Given the description of an element on the screen output the (x, y) to click on. 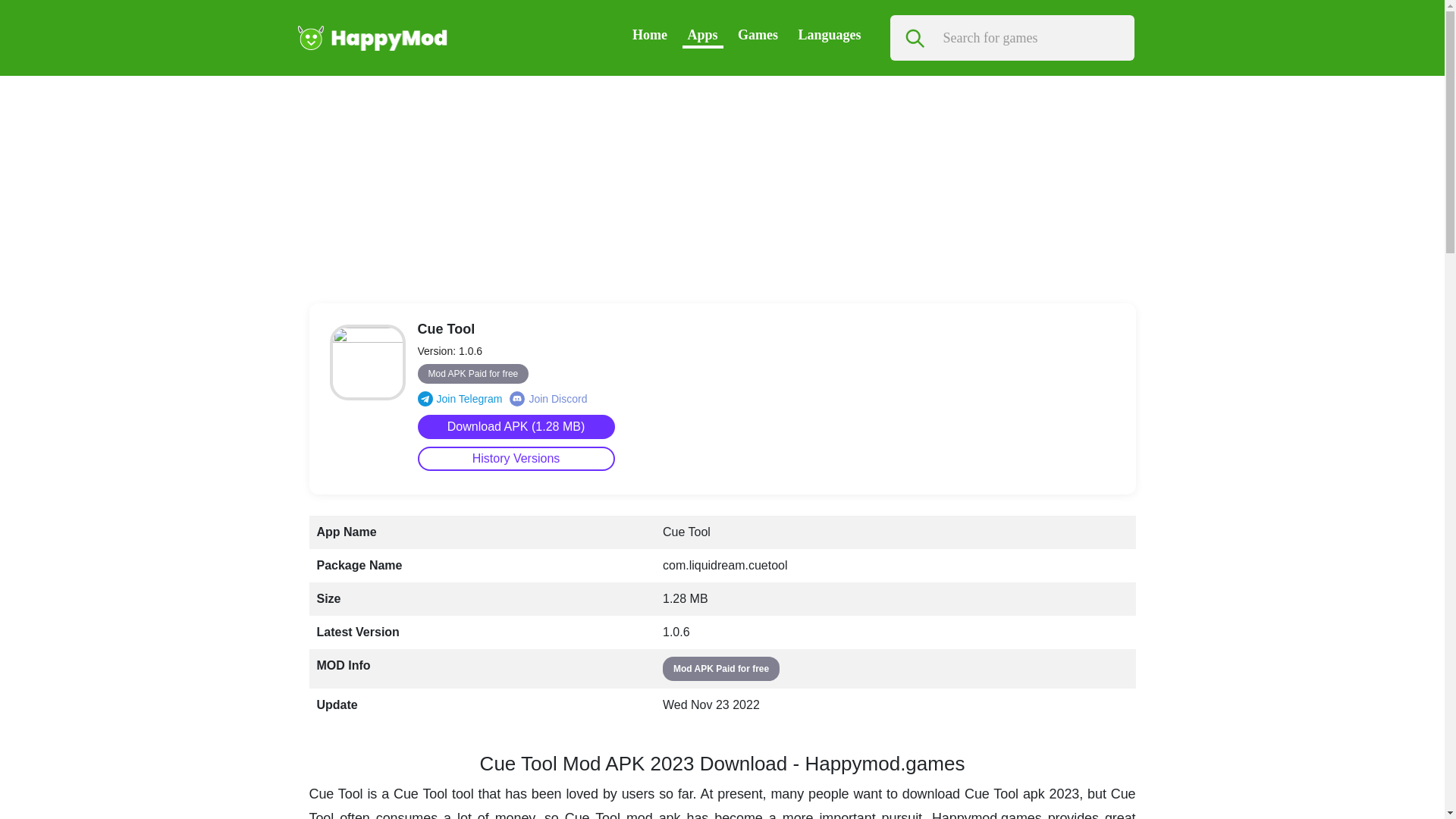
Games (757, 34)
History Versions (515, 458)
Languages (828, 34)
Join Telegram (459, 399)
Join Discord (547, 399)
Home (648, 34)
Apps (702, 34)
